Given the description of an element on the screen output the (x, y) to click on. 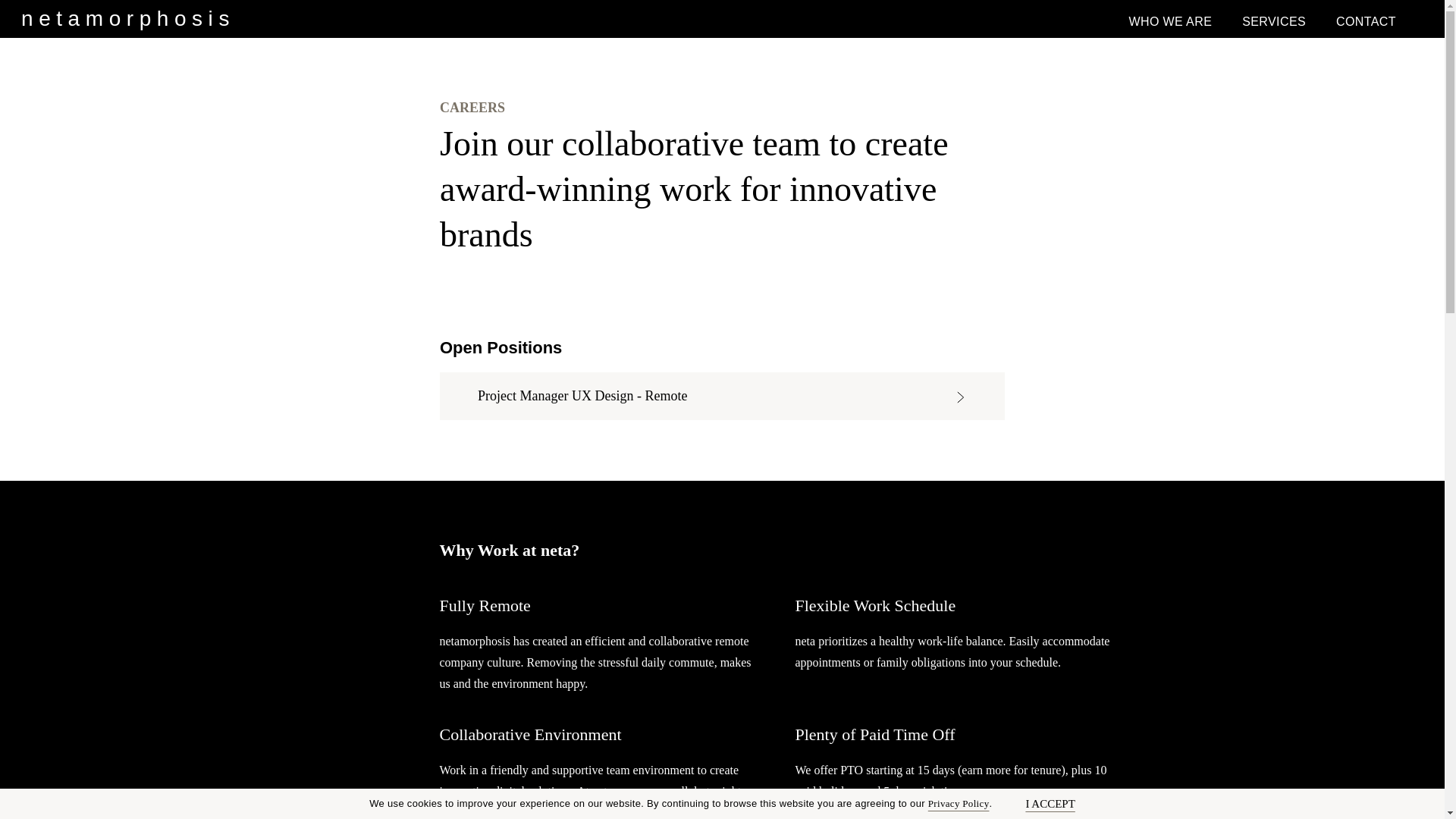
SERVICES (1273, 18)
I ACCEPT (1032, 803)
CONTACT (1366, 18)
WHO WE ARE (1169, 18)
Project Manager UX Design - Remote (721, 395)
netamorphosis (127, 18)
Privacy Policy (959, 803)
